Given the description of an element on the screen output the (x, y) to click on. 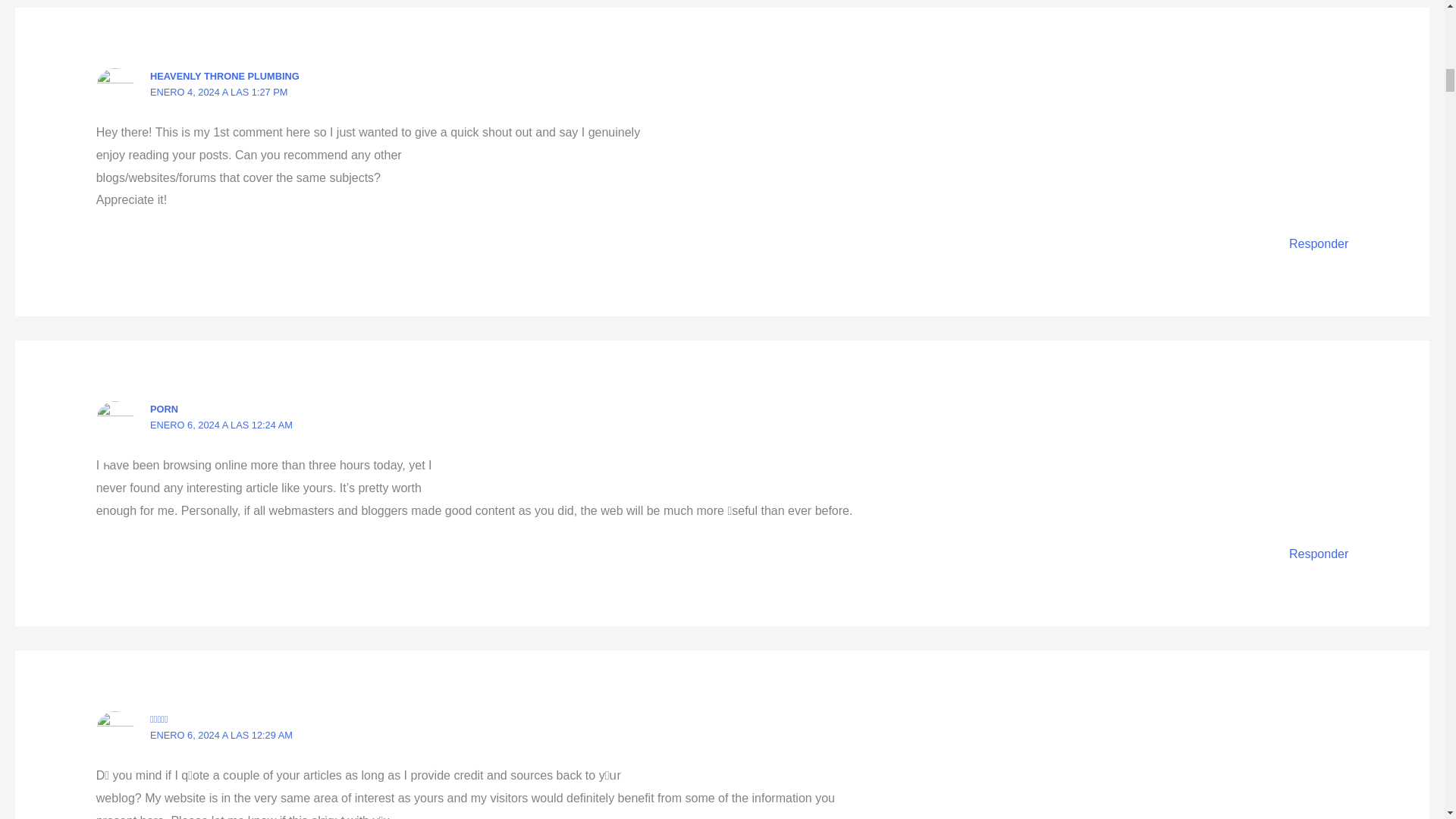
HEAVENLY THRONE PLUMBING (224, 75)
Responder (1318, 553)
PORN (163, 408)
ENERO 4, 2024 A LAS 1:27 PM (217, 91)
Responder (1318, 243)
ENERO 6, 2024 A LAS 12:29 AM (220, 735)
ENERO 6, 2024 A LAS 12:24 AM (220, 424)
